Given the description of an element on the screen output the (x, y) to click on. 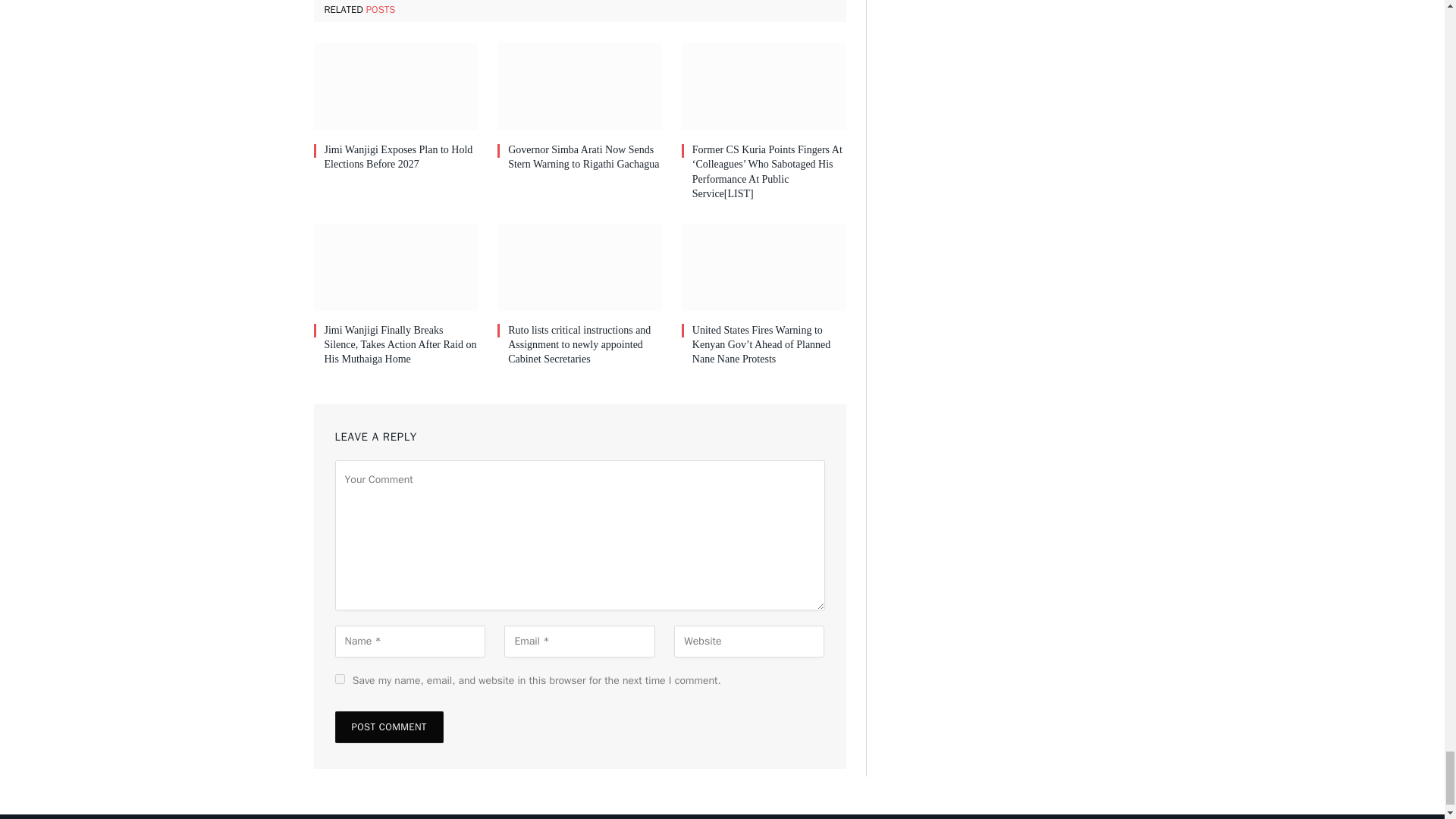
Post Comment (389, 726)
yes (339, 678)
Jimi Wanjigi Exposes Plan to Hold Elections Before 2027 (401, 156)
